Given the description of an element on the screen output the (x, y) to click on. 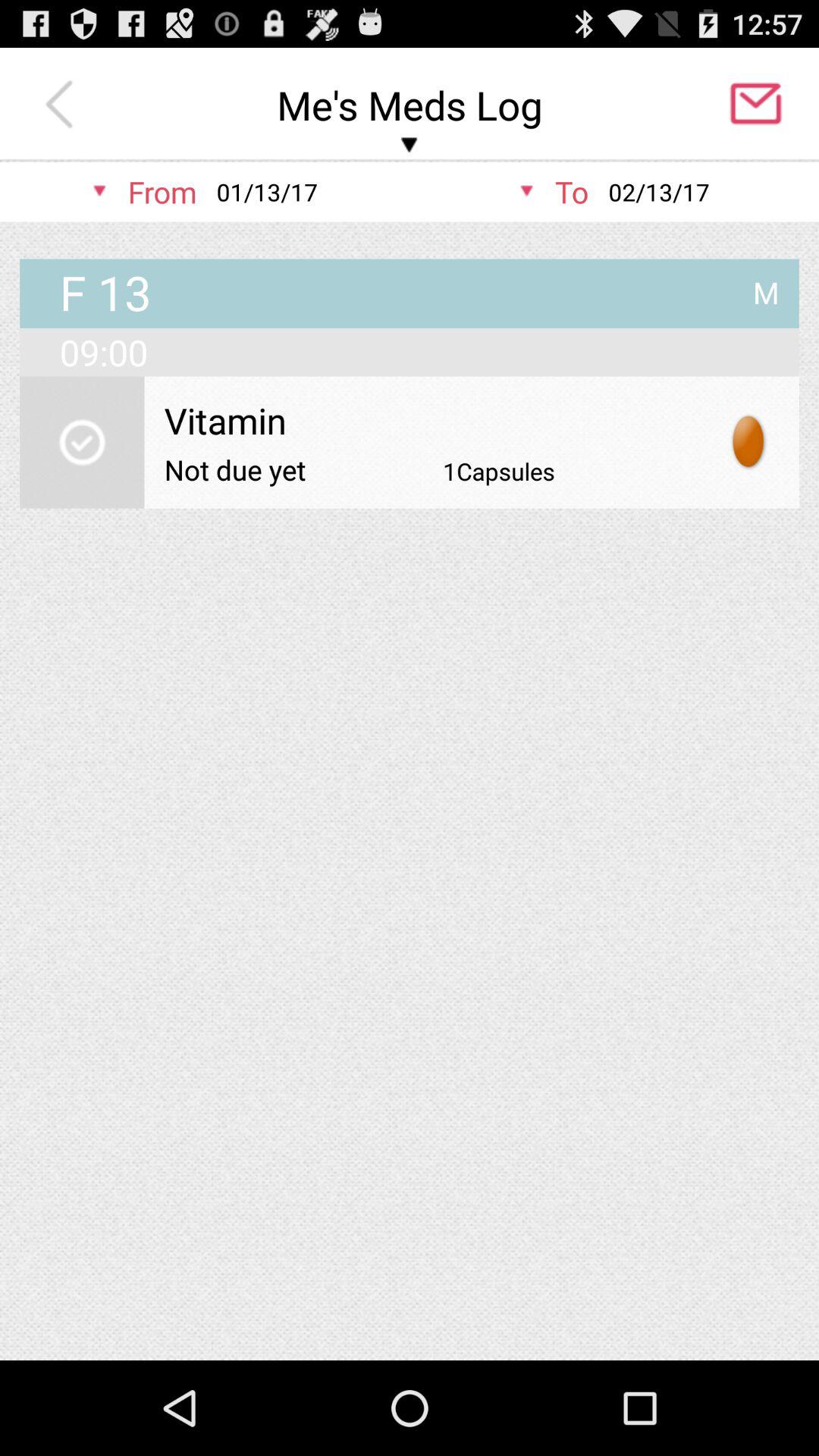
flip until the vitamin item (431, 420)
